Given the description of an element on the screen output the (x, y) to click on. 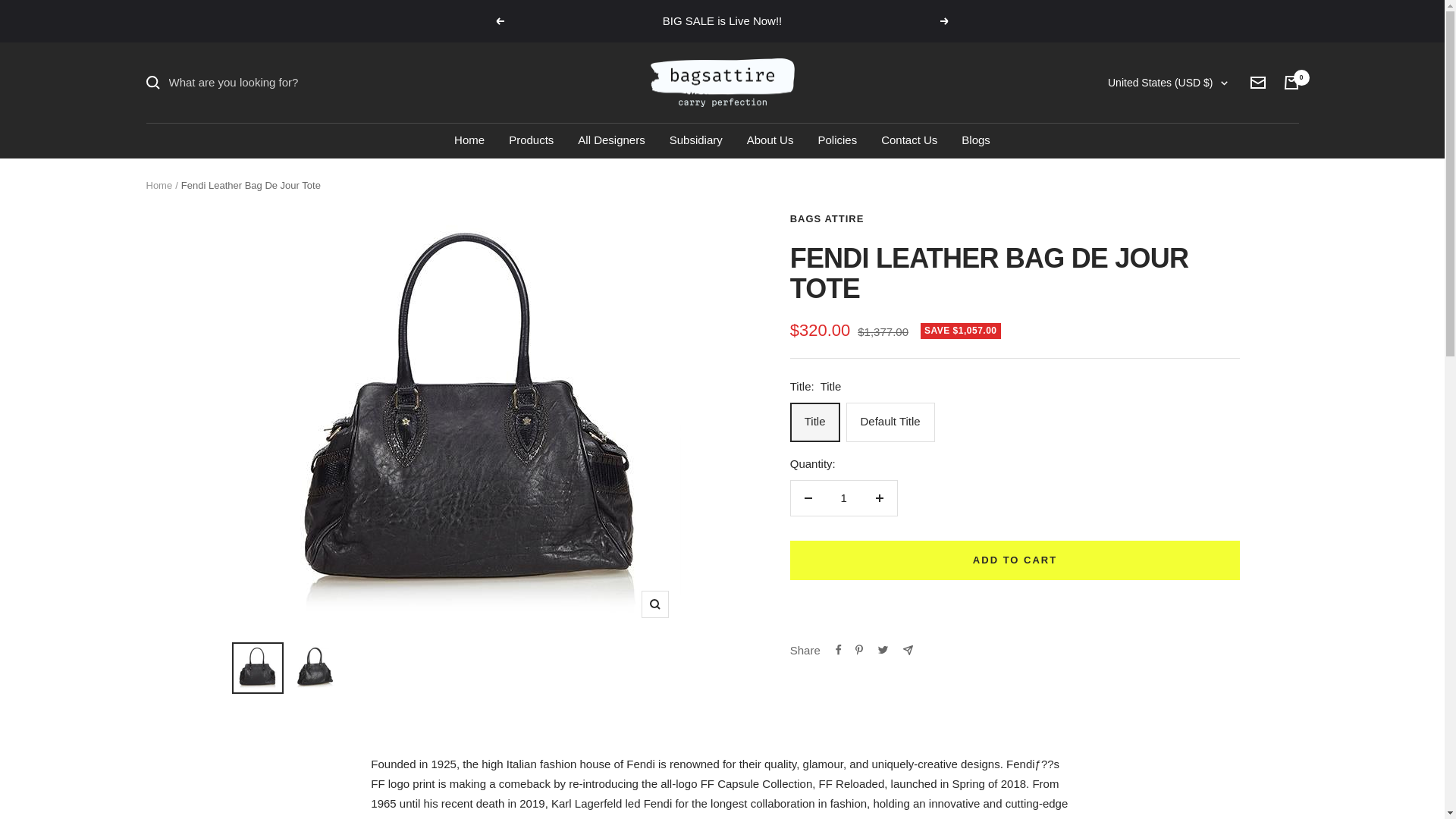
CH (1127, 760)
PL (1127, 609)
CZ (1127, 234)
IT (1127, 435)
ES (1127, 710)
NL (1127, 510)
GB (1127, 809)
NZ (1127, 535)
PK (1127, 585)
Previous (499, 21)
DK (1127, 260)
JP (1127, 460)
FI (1127, 284)
PT (1127, 635)
